Given the description of an element on the screen output the (x, y) to click on. 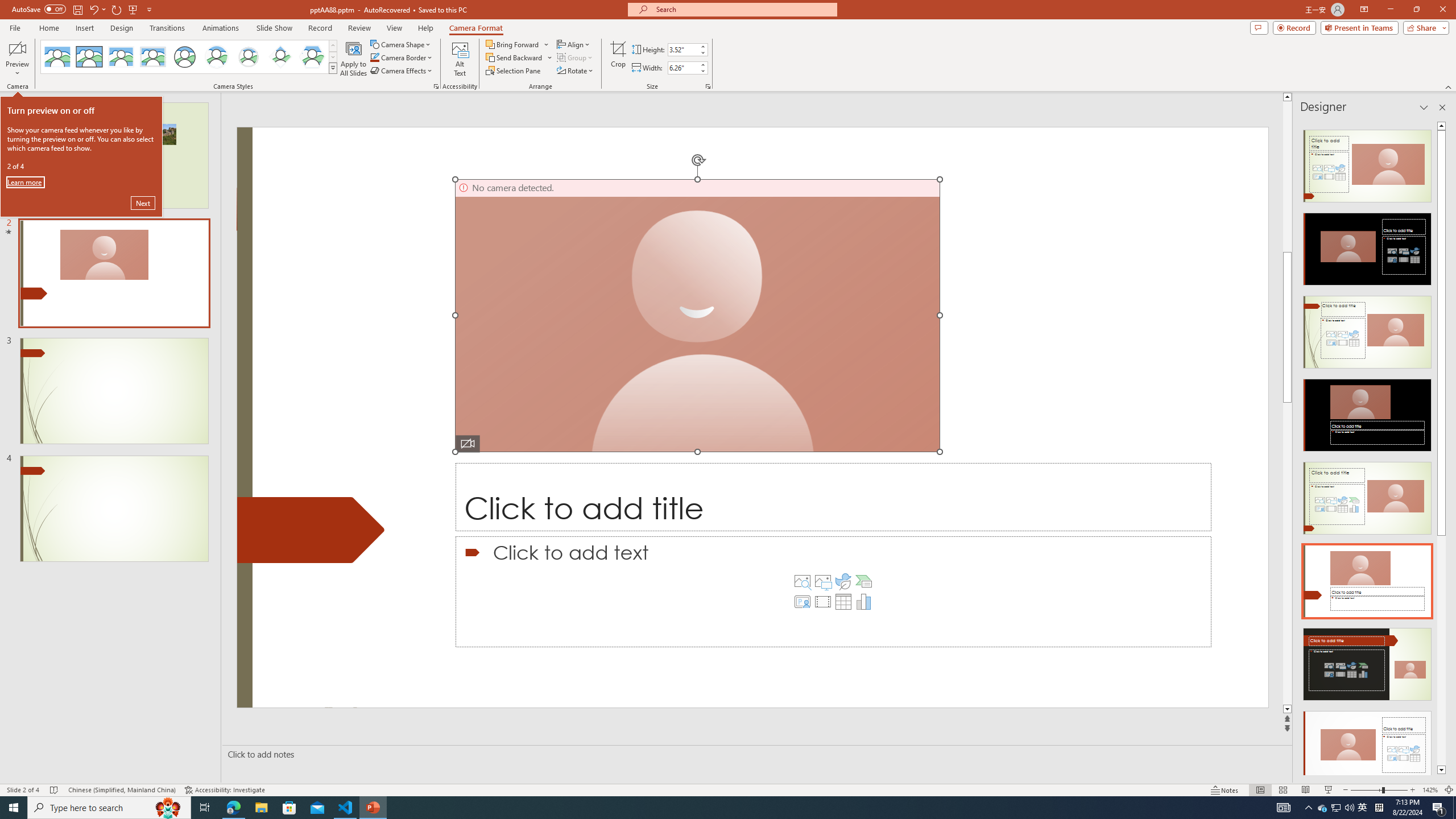
Insert Cameo (801, 601)
Insert a SmartArt Graphic (863, 581)
Size and Position... (707, 85)
Soft Edge Circle (248, 56)
Selection Pane... (513, 69)
